Given the description of an element on the screen output the (x, y) to click on. 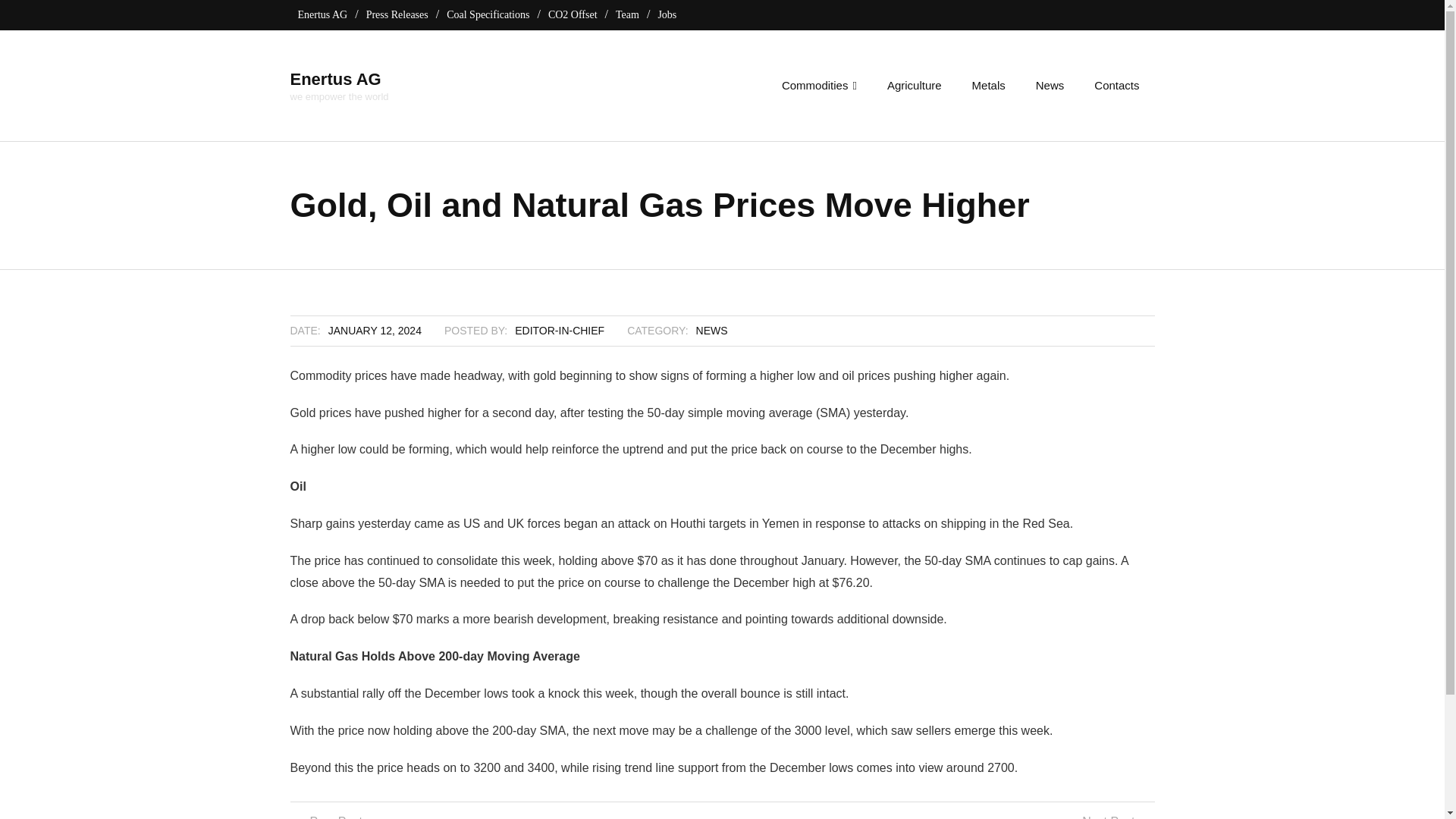
Gold, Oil and Natural Gas Prices Move Higher (375, 330)
EDITOR-IN-CHIEF (559, 330)
Press Releases (396, 14)
Team (627, 14)
NEWS (711, 330)
Coal Specifications (488, 14)
Next Post (1112, 815)
Jobs (666, 14)
Commodities (819, 85)
Enertus AG (338, 79)
